Given the description of an element on the screen output the (x, y) to click on. 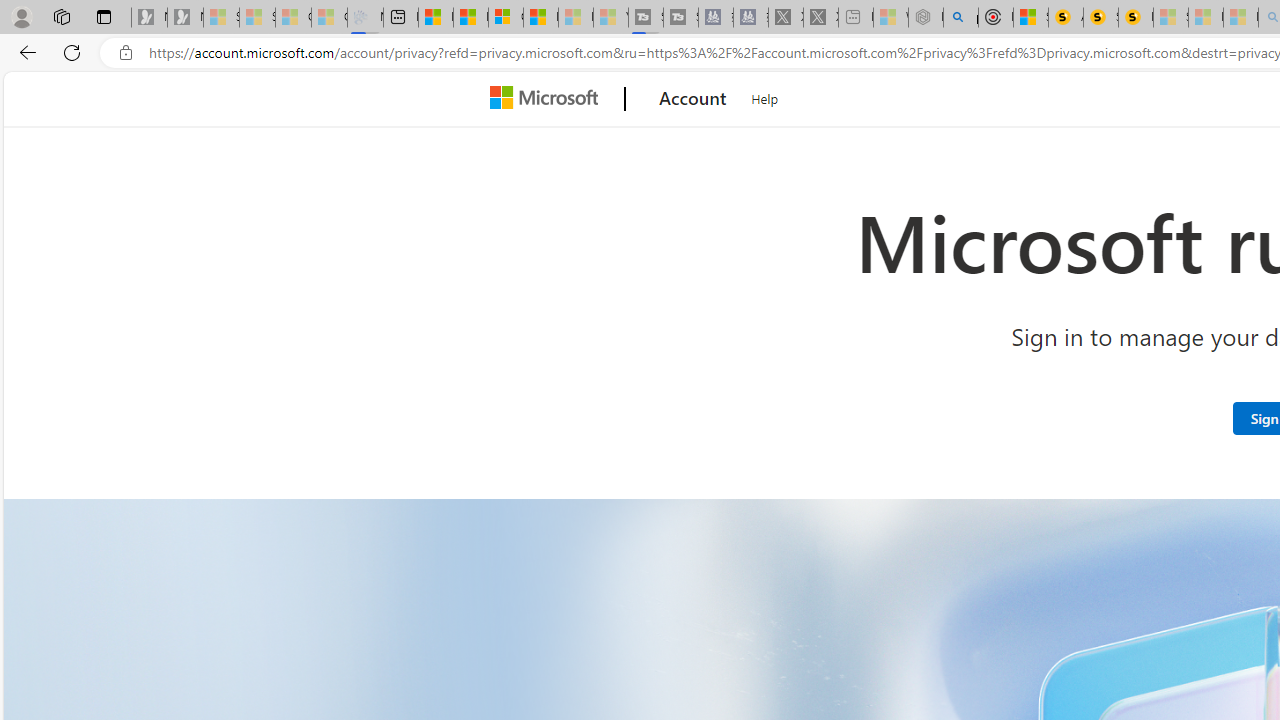
Michelle Starr, Senior Journalist at ScienceAlert (1135, 17)
X - Sleeping (820, 17)
